Given the description of an element on the screen output the (x, y) to click on. 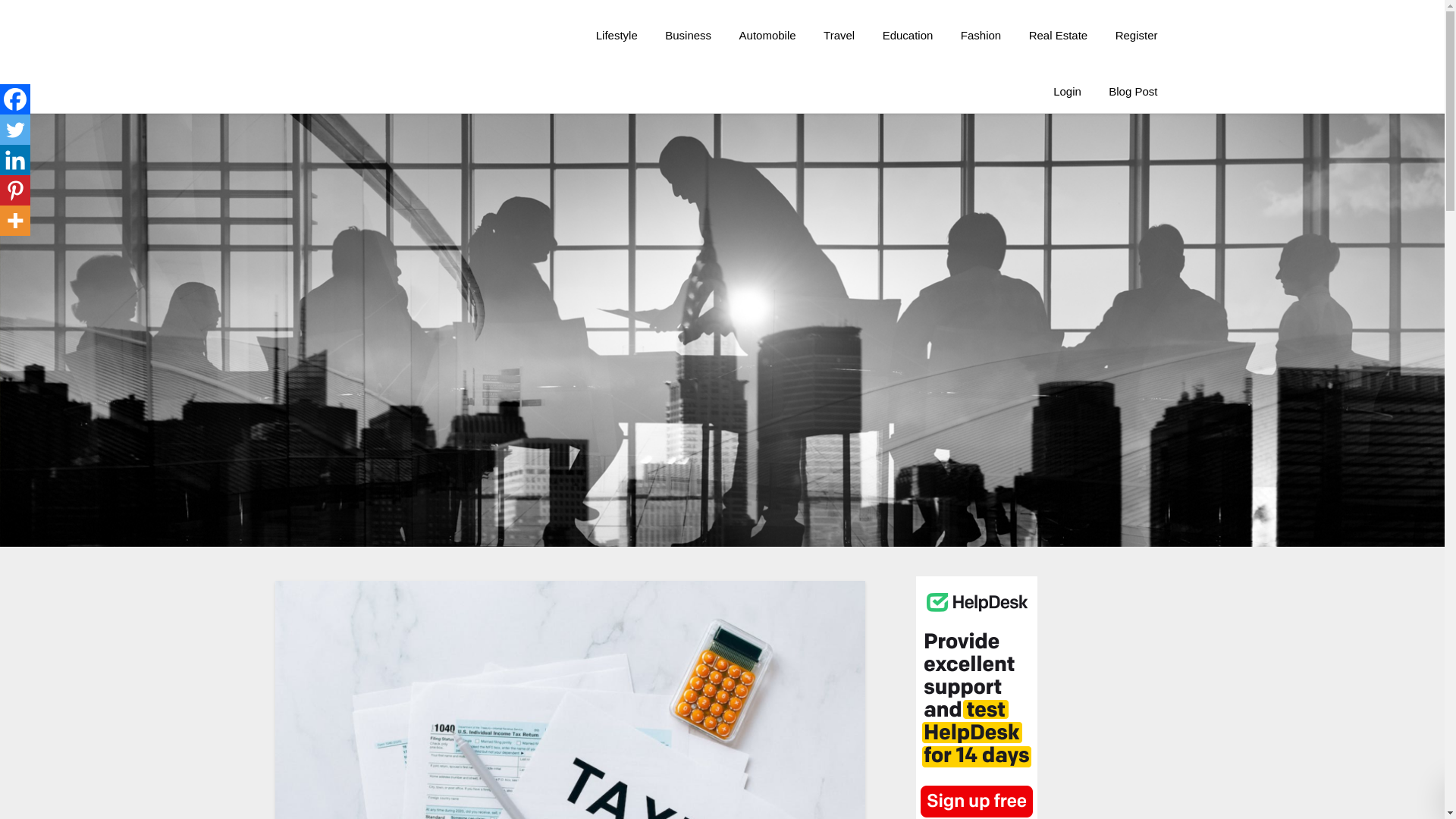
Register (1136, 35)
Blog Post (1132, 91)
Login (1067, 91)
Fashion (981, 35)
Travel (838, 35)
More (15, 220)
Facebook (15, 99)
Linkedin (15, 159)
Education (907, 35)
Network Blog News Hub (578, 19)
